Given the description of an element on the screen output the (x, y) to click on. 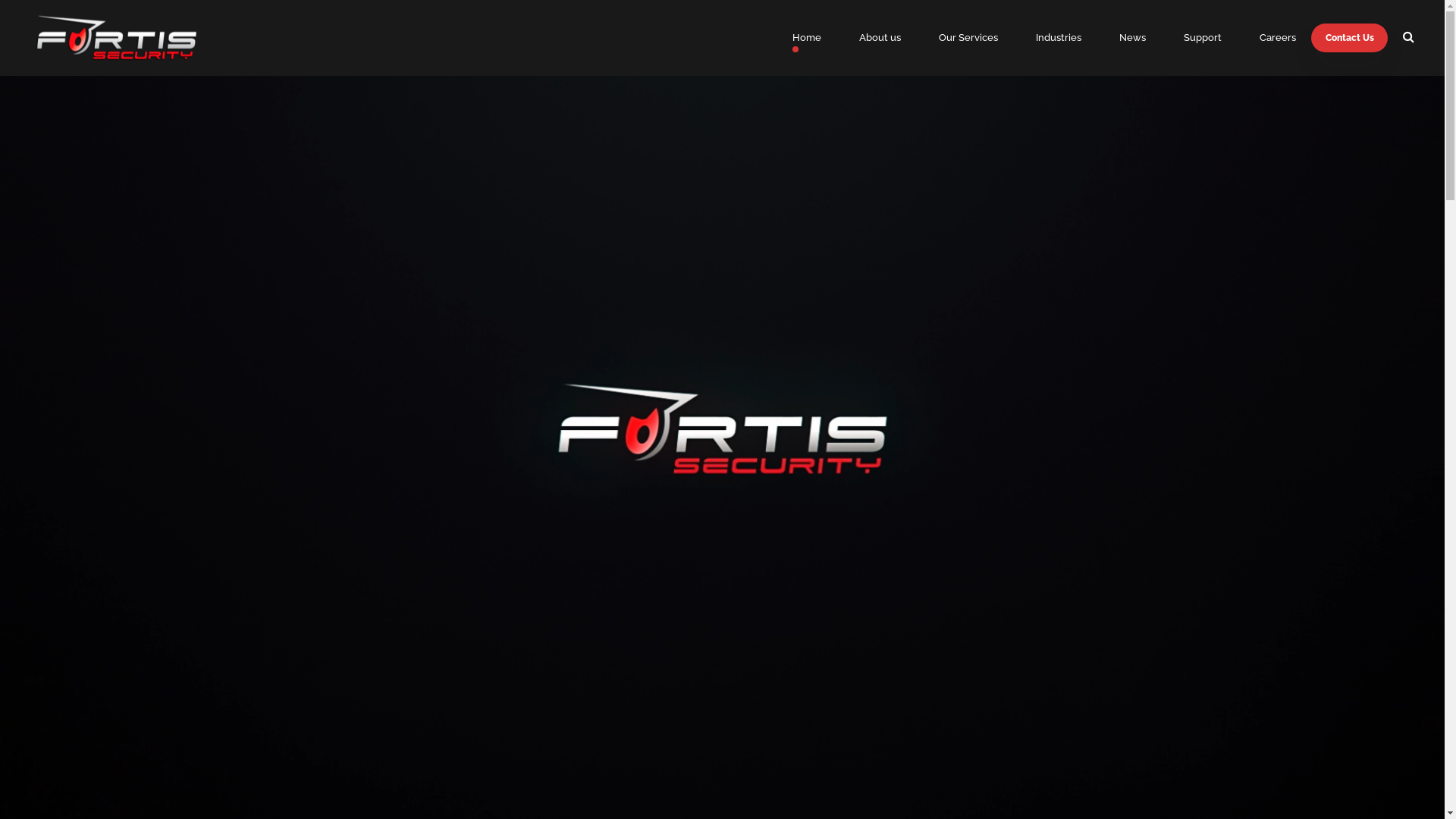
Contact Us Element type: text (1349, 37)
Home Element type: text (806, 37)
Support Element type: text (1202, 37)
About us Element type: text (880, 37)
News Element type: text (1132, 37)
Industries Element type: text (1058, 37)
Careers Element type: text (1277, 37)
Our Services Element type: text (968, 37)
